Given the description of an element on the screen output the (x, y) to click on. 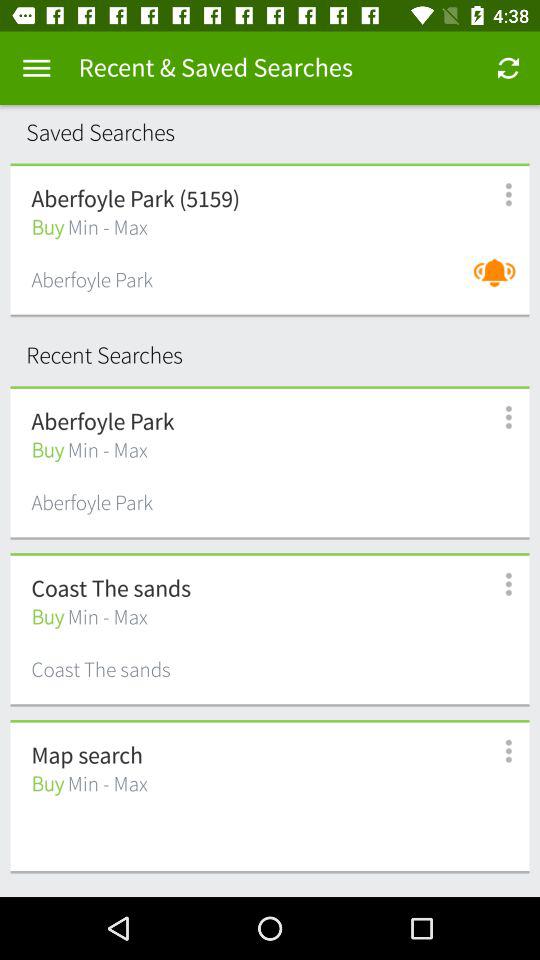
press icon next to recent & saved searches (508, 67)
